Given the description of an element on the screen output the (x, y) to click on. 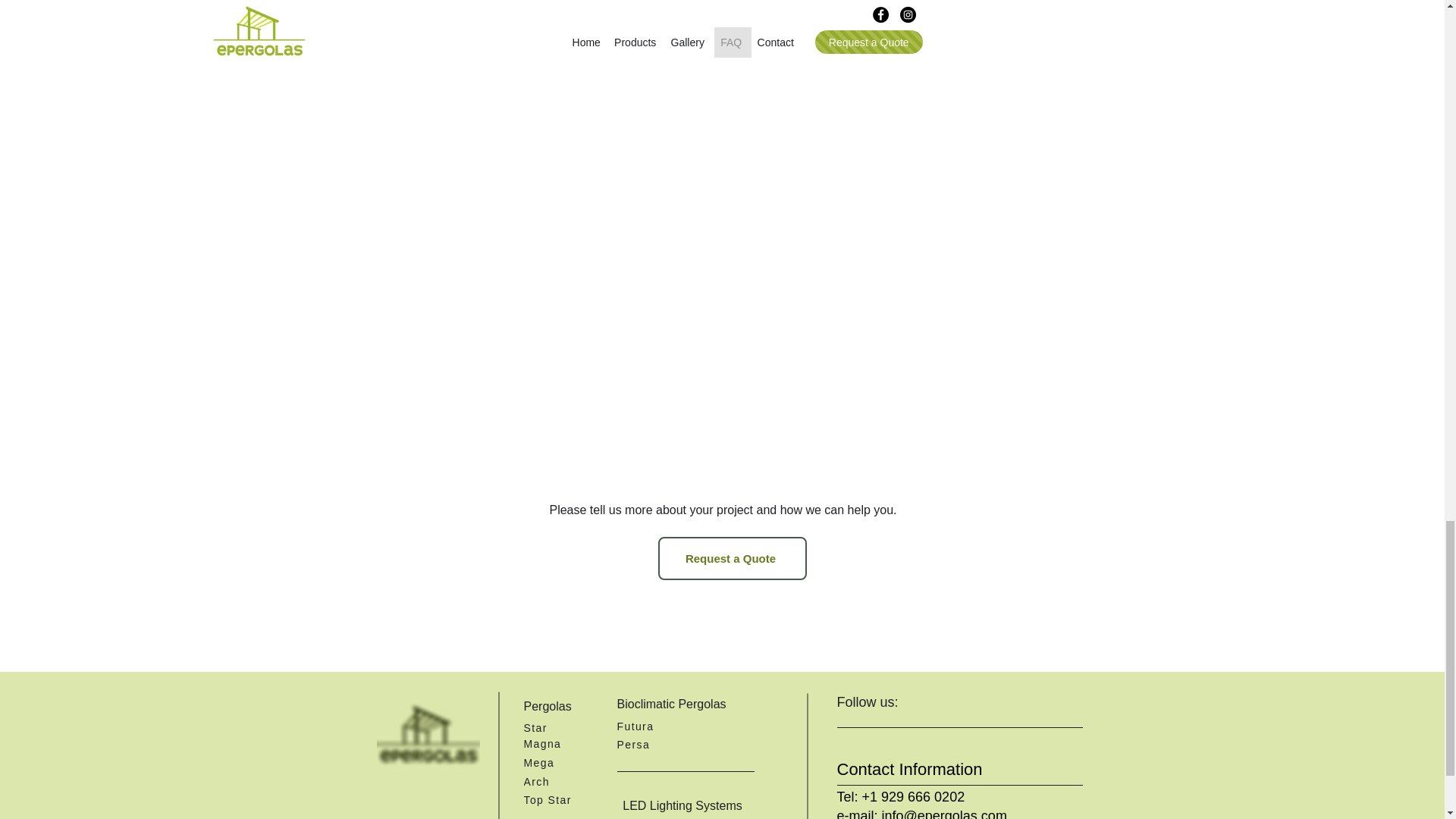
Arch (555, 781)
Bioclimatic Pergolas (694, 703)
LED Lighting Systems (684, 805)
Top Star (555, 799)
Futura (649, 725)
Magna (555, 742)
Star (555, 727)
Mega (555, 762)
Request a Quote (732, 558)
Persa (649, 743)
